Given the description of an element on the screen output the (x, y) to click on. 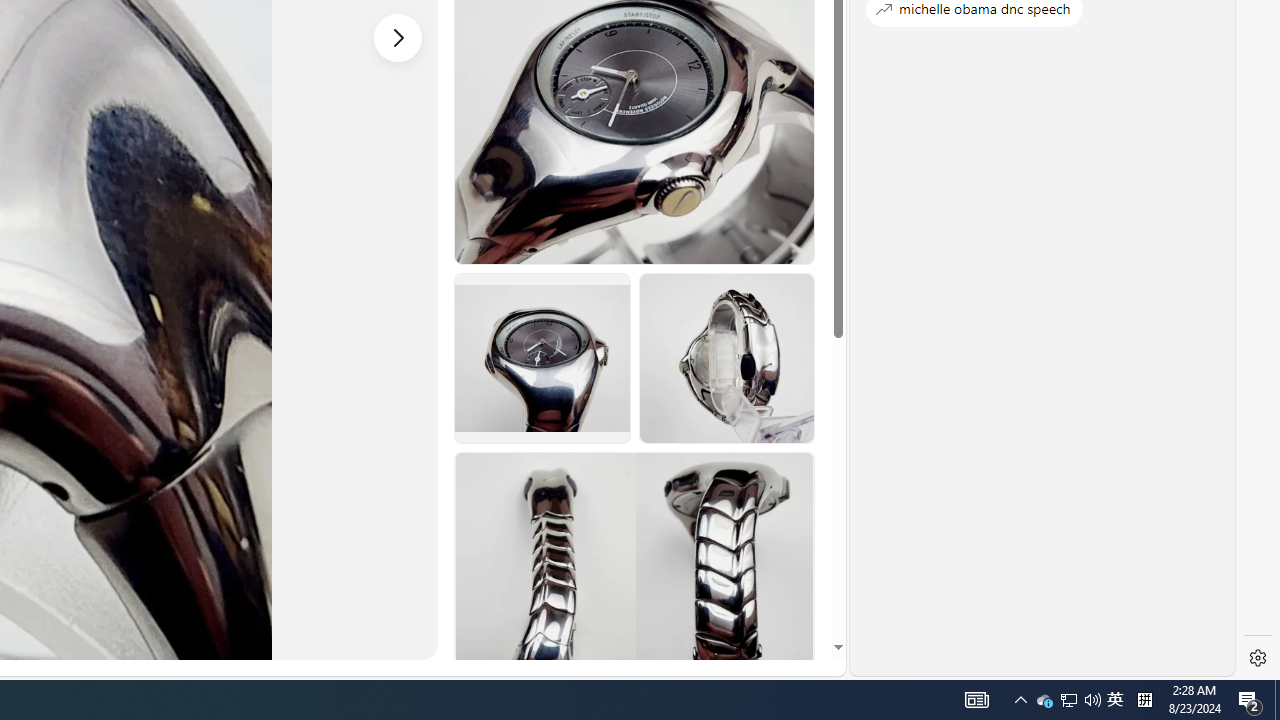
Next image - Item images thumbnails (397, 37)
